Given the description of an element on the screen output the (x, y) to click on. 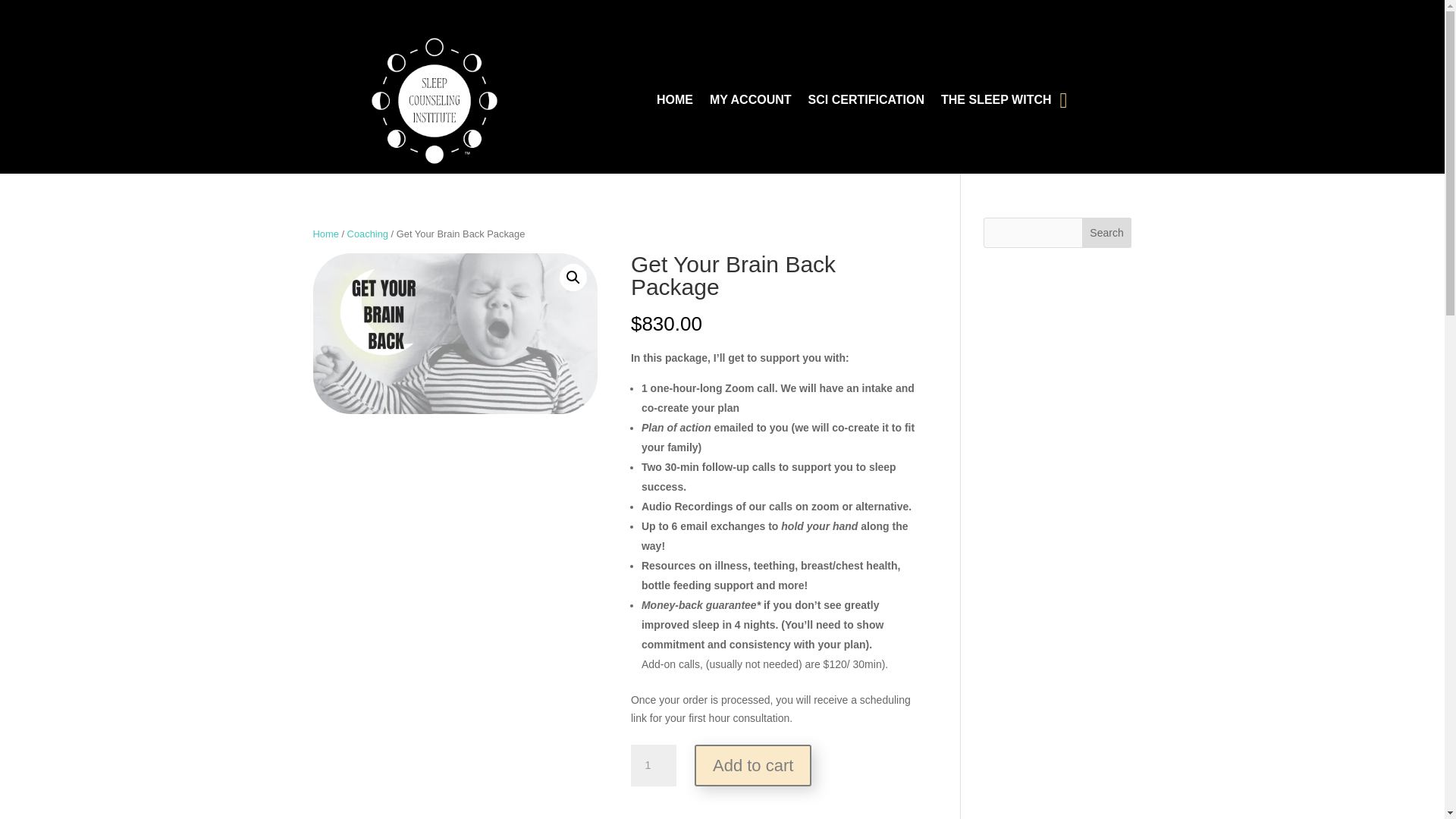
Brain Back (454, 333)
PayPal (772, 802)
1 (653, 765)
THE SLEEP WITCH (995, 104)
Add to cart (752, 765)
SCI CERTIFICATION (866, 104)
Home (325, 233)
Coaching (367, 233)
Search (1106, 232)
MY ACCOUNT (751, 104)
